Given the description of an element on the screen output the (x, y) to click on. 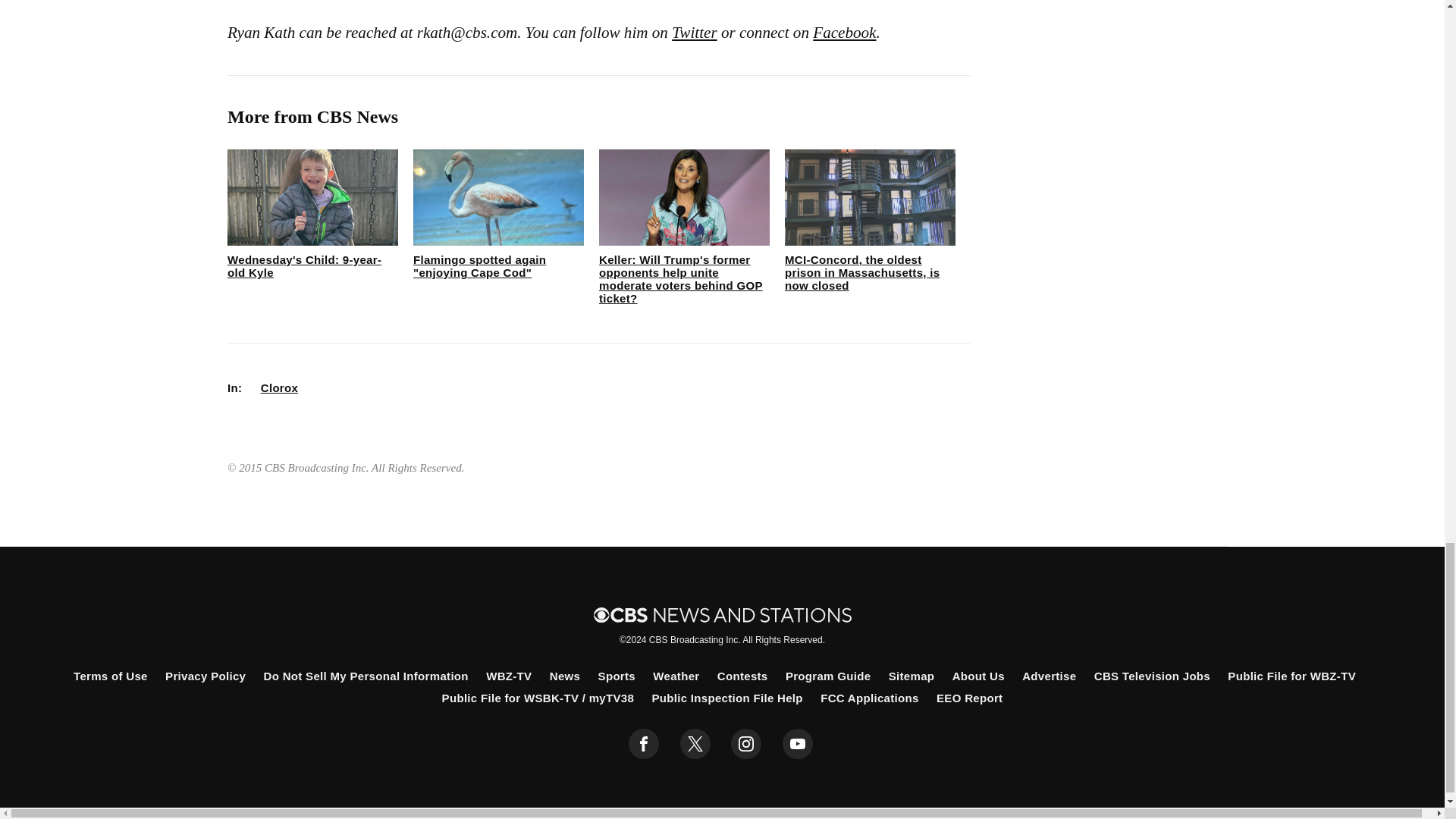
youtube (797, 743)
twitter (694, 743)
instagram (745, 743)
facebook (643, 743)
